Given the description of an element on the screen output the (x, y) to click on. 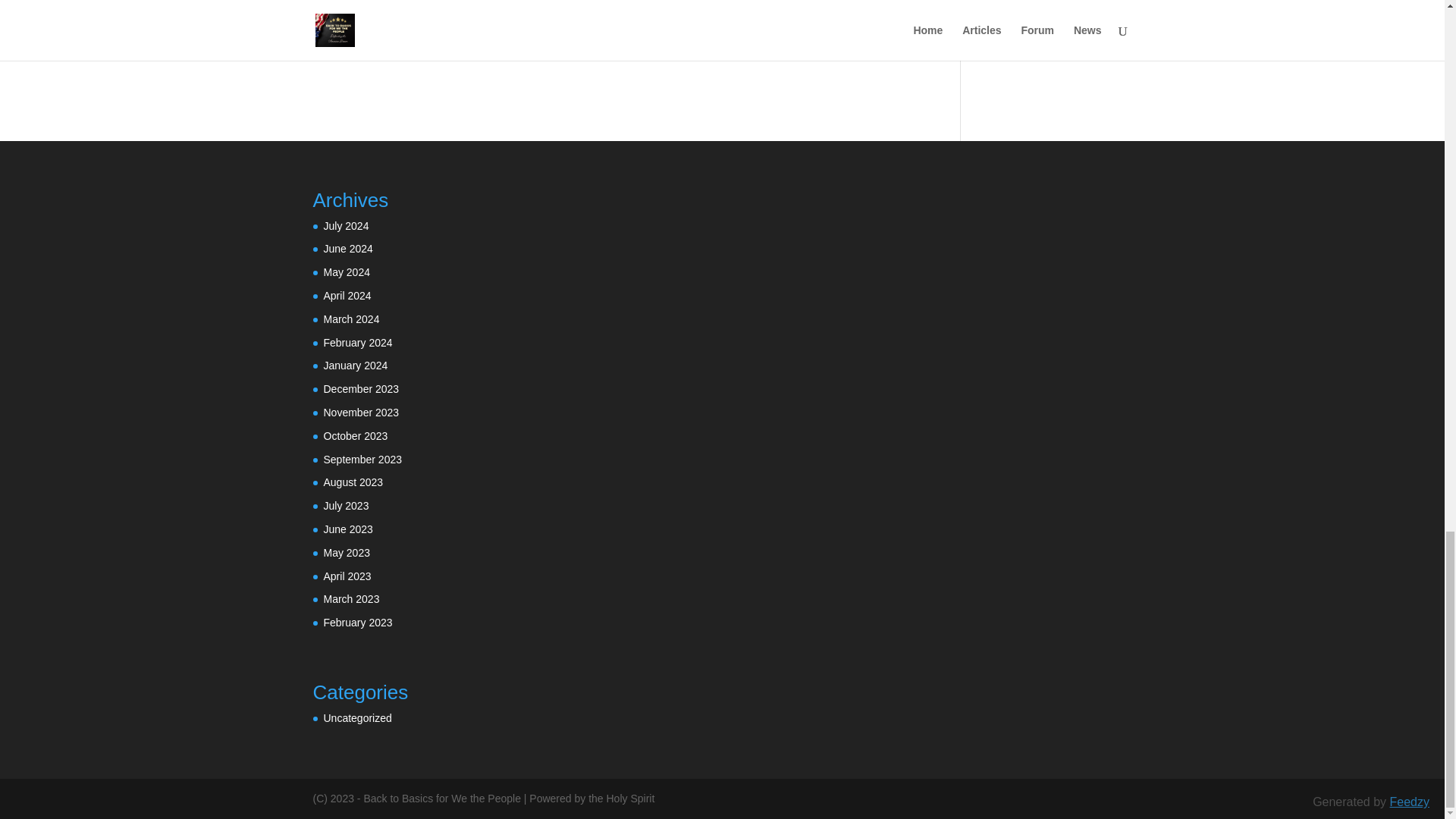
November 2023 (360, 412)
July 2023 (345, 505)
The Gateway Pundit (850, 49)
June 2023 (347, 529)
July 2024 (345, 225)
May 2024 (346, 272)
March 2024 (350, 318)
January 2024 (355, 365)
February 2024 (357, 342)
August 2023 (352, 481)
April 2024 (347, 295)
June 2024 (347, 248)
December 2023 (360, 388)
September 2023 (362, 459)
October 2023 (355, 435)
